Given the description of an element on the screen output the (x, y) to click on. 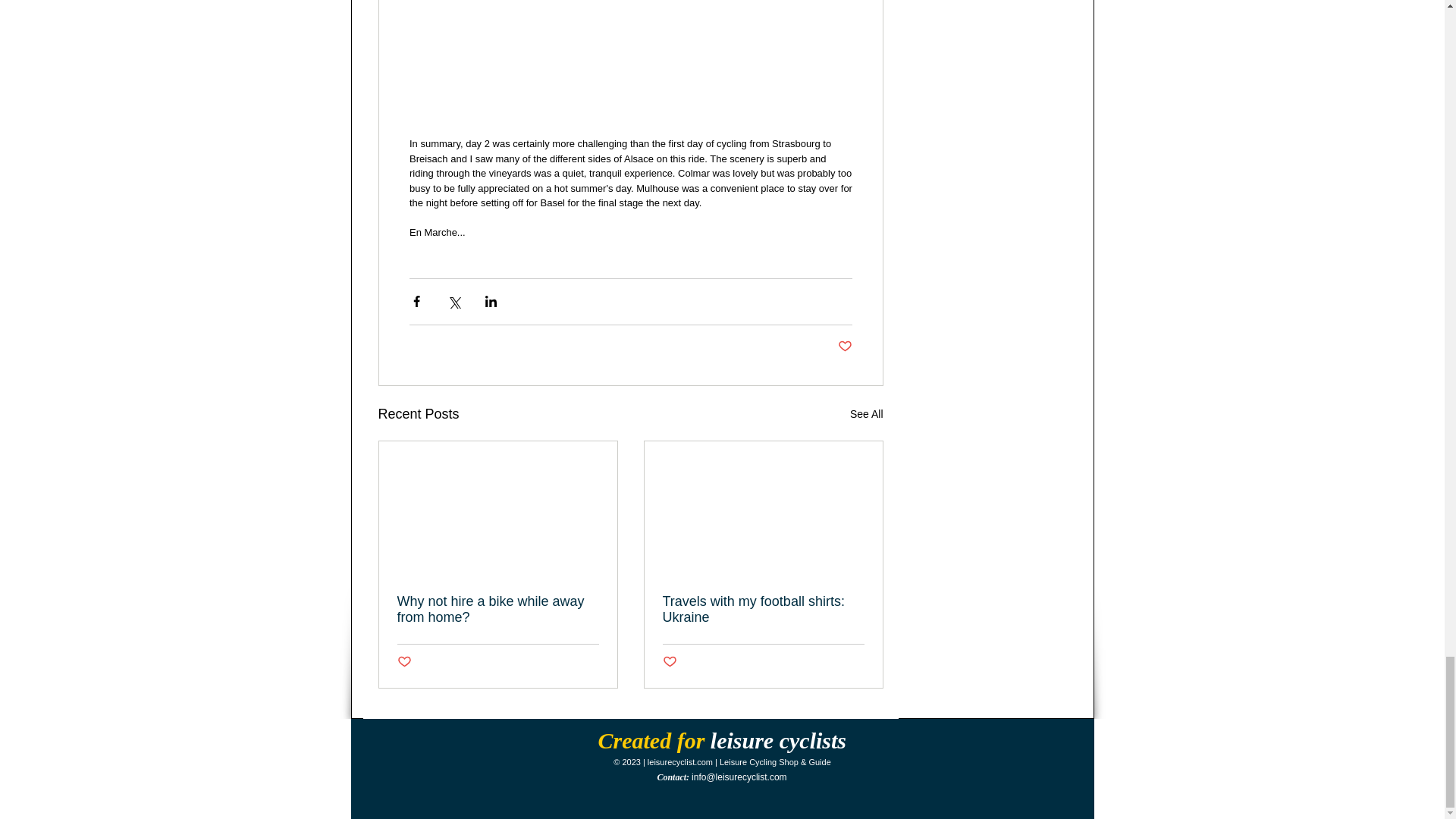
Post not marked as liked (844, 346)
Post not marked as liked (404, 662)
Travels with my football shirts: Ukraine (763, 608)
Post not marked as liked (669, 662)
Why not hire a bike while away from home? (497, 608)
See All (866, 414)
